Given the description of an element on the screen output the (x, y) to click on. 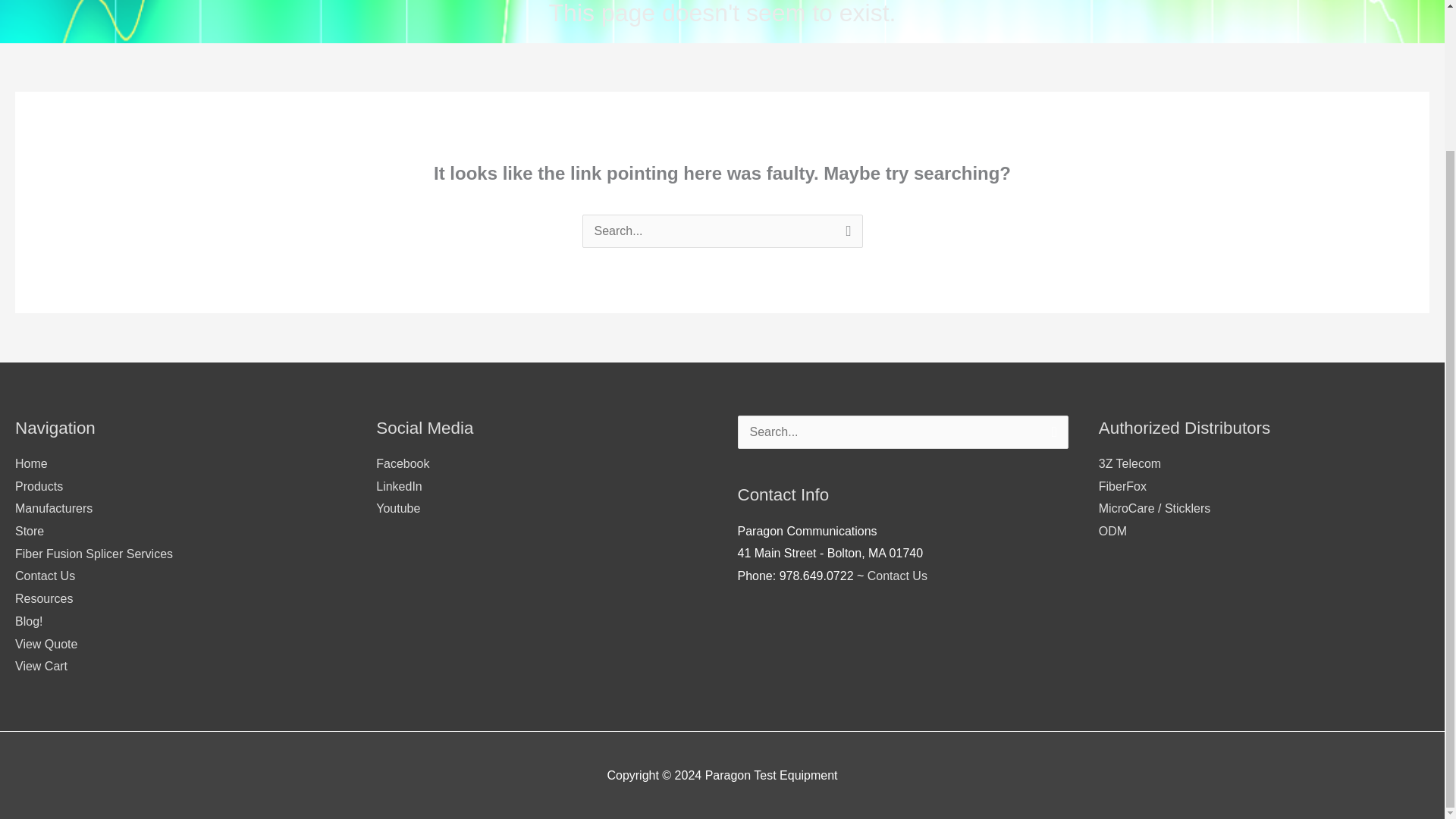
Youtube (397, 508)
Store (28, 530)
View Cart (40, 666)
LinkedIn (398, 486)
Blog! (28, 621)
Products (38, 486)
Manufacturers (53, 508)
Fiber Fusion Splicer Services (93, 553)
Contact Us (897, 575)
Facebook (402, 463)
View Quote (45, 644)
3Z Telecom (1129, 463)
FiberFox (1123, 486)
ODM (1112, 530)
Resources (43, 598)
